Given the description of an element on the screen output the (x, y) to click on. 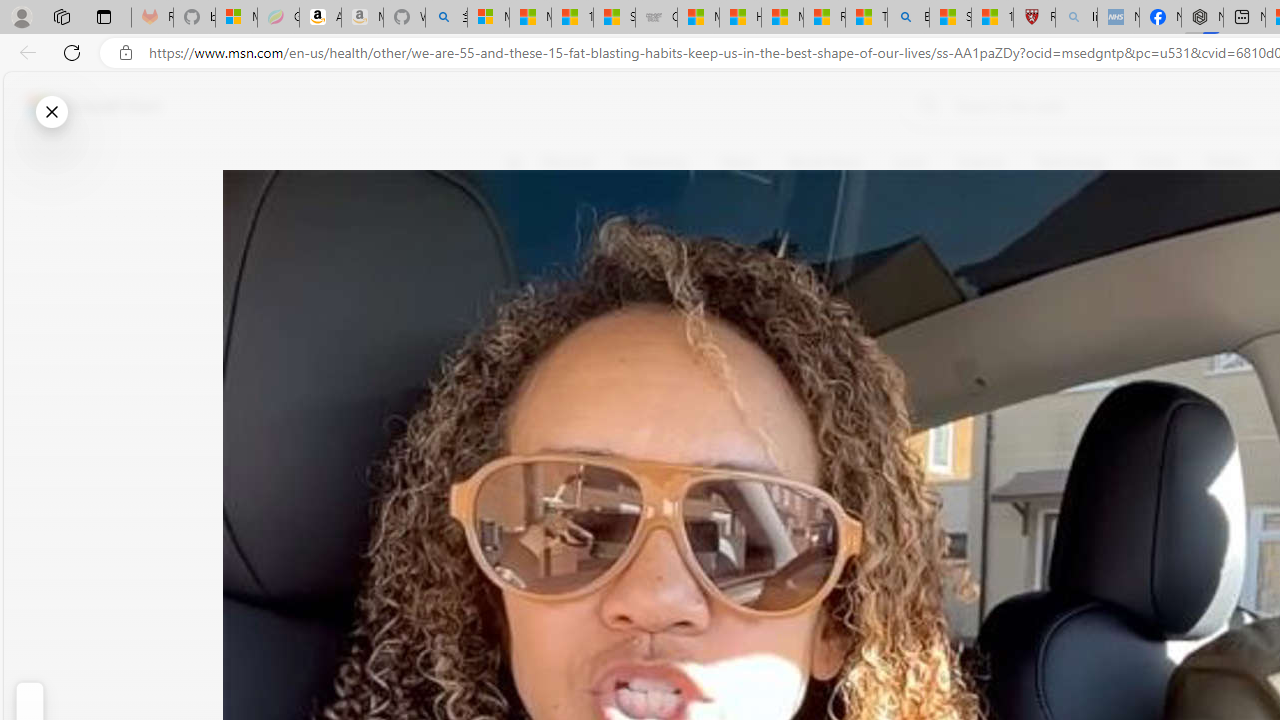
Following (658, 162)
Class: at-item (525, 468)
Skip to footer (82, 105)
News (738, 162)
See more (525, 468)
Web search (924, 105)
Share this story (525, 412)
Discover (575, 162)
Science (980, 162)
